Given the description of an element on the screen output the (x, y) to click on. 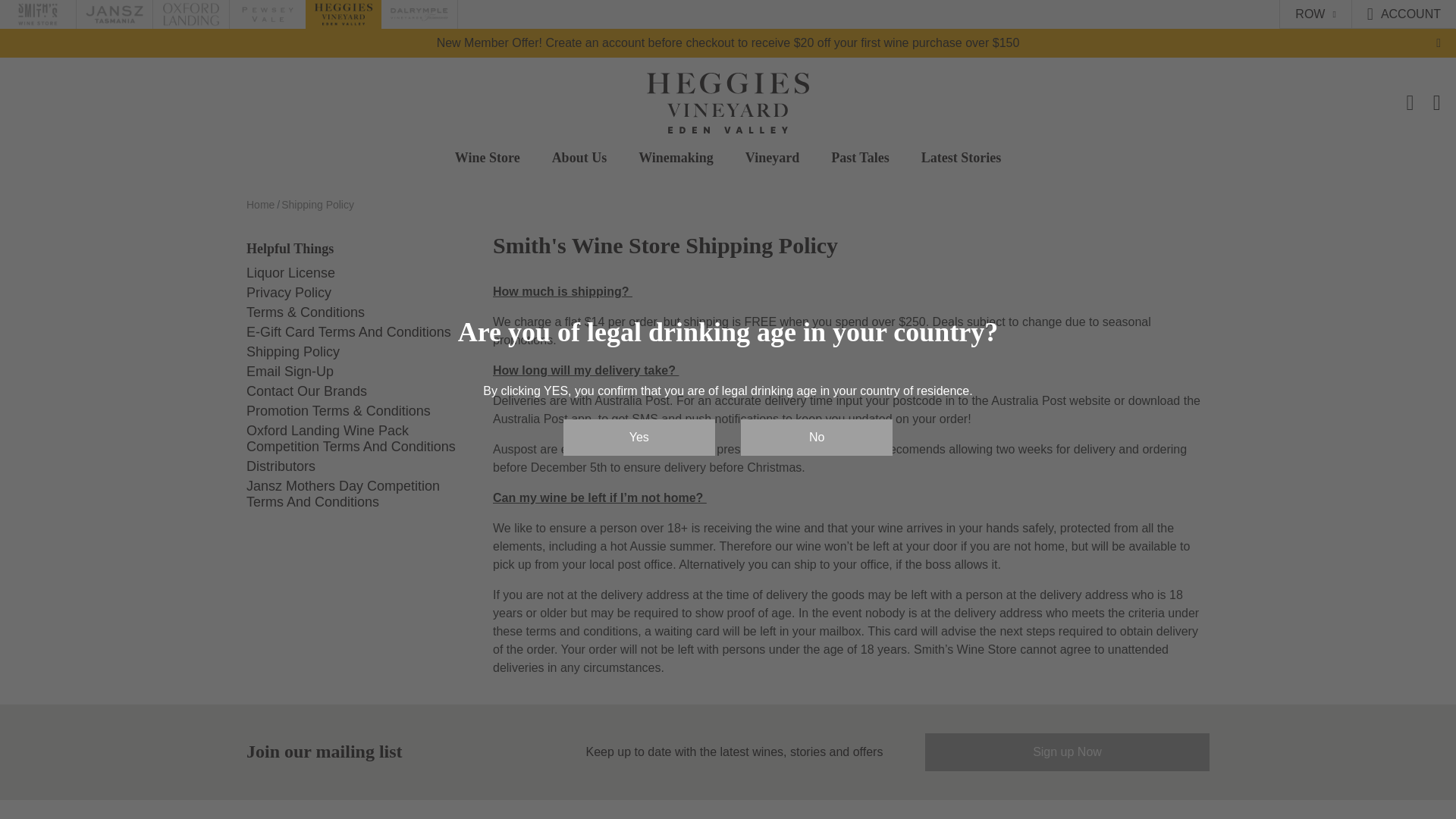
Heggies Vineyard (343, 14)
Pewsey Vale Vineyard (267, 14)
Yes (638, 436)
Smiths Wine Store (37, 14)
Jansz Tasmania (114, 14)
Jansz Tasmania (114, 14)
Oxford Landing (190, 14)
No (816, 436)
Smiths Wine Store (37, 14)
Oxford Landing (190, 14)
About Us (579, 157)
Pewsey Vale Vineyard (267, 14)
Wine Store (486, 157)
Heggies Vineyard (343, 14)
Dalrymple Vineyards (418, 14)
